Given the description of an element on the screen output the (x, y) to click on. 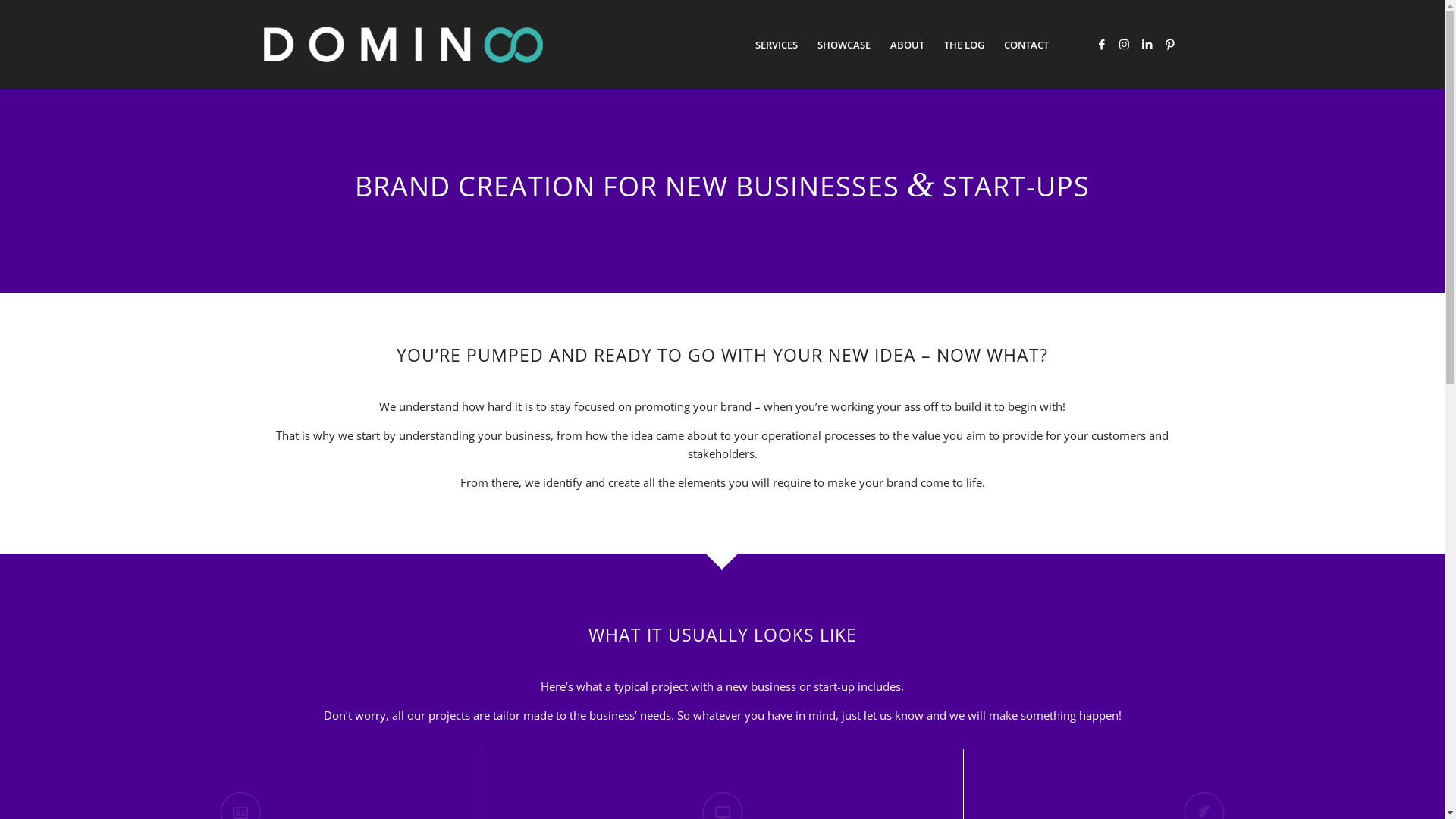
Facebook Element type: hover (1101, 43)
Pinterest Element type: hover (1169, 43)
Instagram Element type: hover (1124, 43)
ABOUT Element type: text (906, 44)
THE LOG Element type: text (964, 44)
CONTACT Element type: text (1025, 44)
SHOWCASE Element type: text (842, 44)
LinkedIn Element type: hover (1146, 43)
SERVICES Element type: text (775, 44)
domin8-logo-white-teal Element type: hover (402, 44)
